Given the description of an element on the screen output the (x, y) to click on. 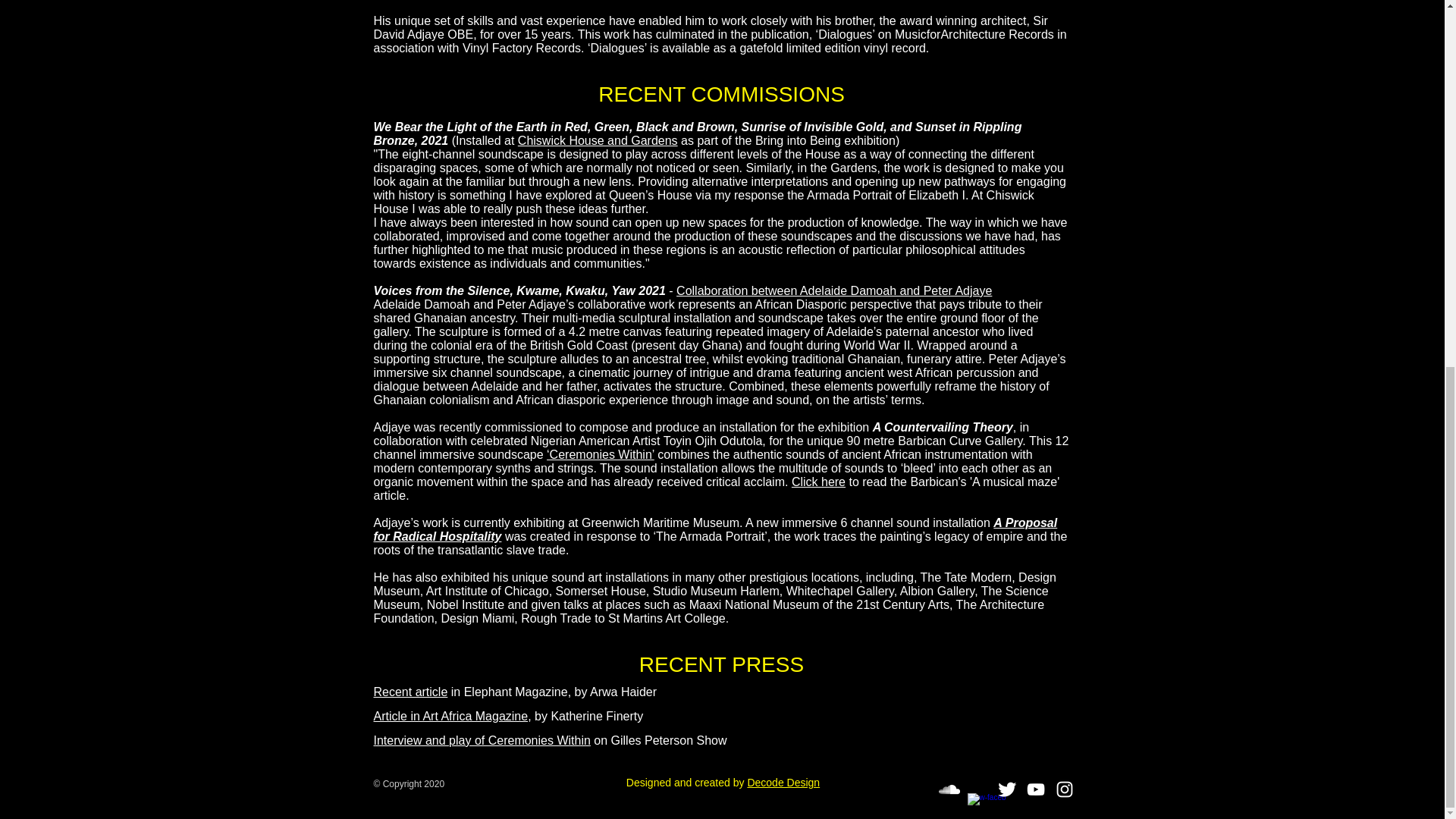
Click here (818, 481)
Collaboration between Adelaide Damoah and Peter Adjaye (834, 290)
A Proposal for Radical Hospitality (714, 529)
Article in Art Africa Magazine (449, 716)
Recent article (409, 691)
Interview and play of Ceremonies Within (480, 739)
Decode Design (782, 782)
Chiswick House and Gardens (598, 140)
